Given the description of an element on the screen output the (x, y) to click on. 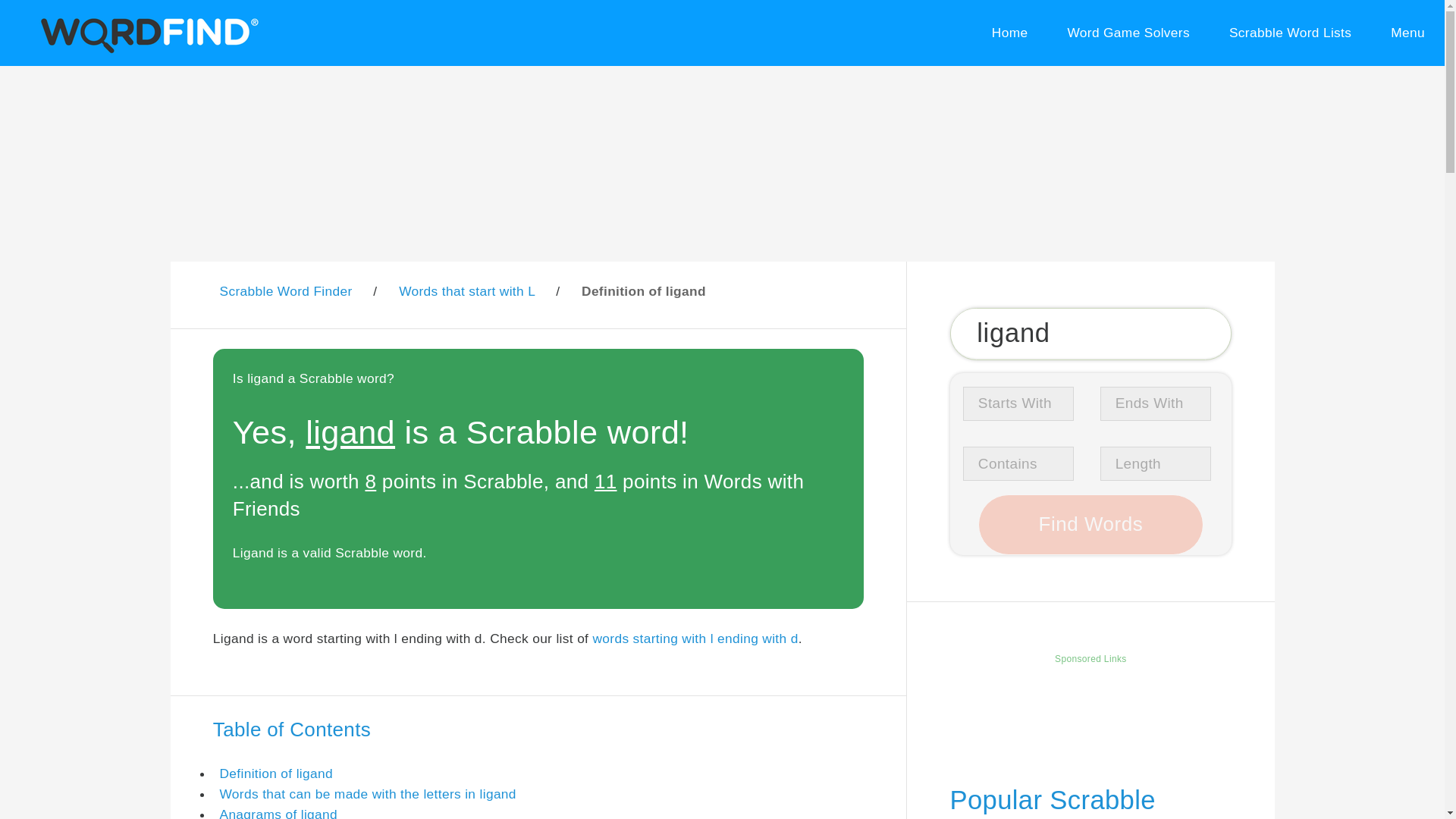
Words that start with L (466, 290)
Find Words (1091, 525)
ligand (1090, 333)
Definition of ligand (276, 773)
wordfind.com logo (146, 32)
Word Game Solvers (1128, 33)
Home (1009, 33)
words starting with l ending with d (694, 638)
Anagrams of ligand (278, 812)
Scrabble Word Lists menu (1290, 33)
Return Home to Wordfind.com (146, 50)
Words that can be made with the letters in ligand (367, 793)
Word Game Solvers menu (1128, 33)
Scrabble Word Lists (1290, 33)
Scrabble Word Finder (285, 290)
